Given the description of an element on the screen output the (x, y) to click on. 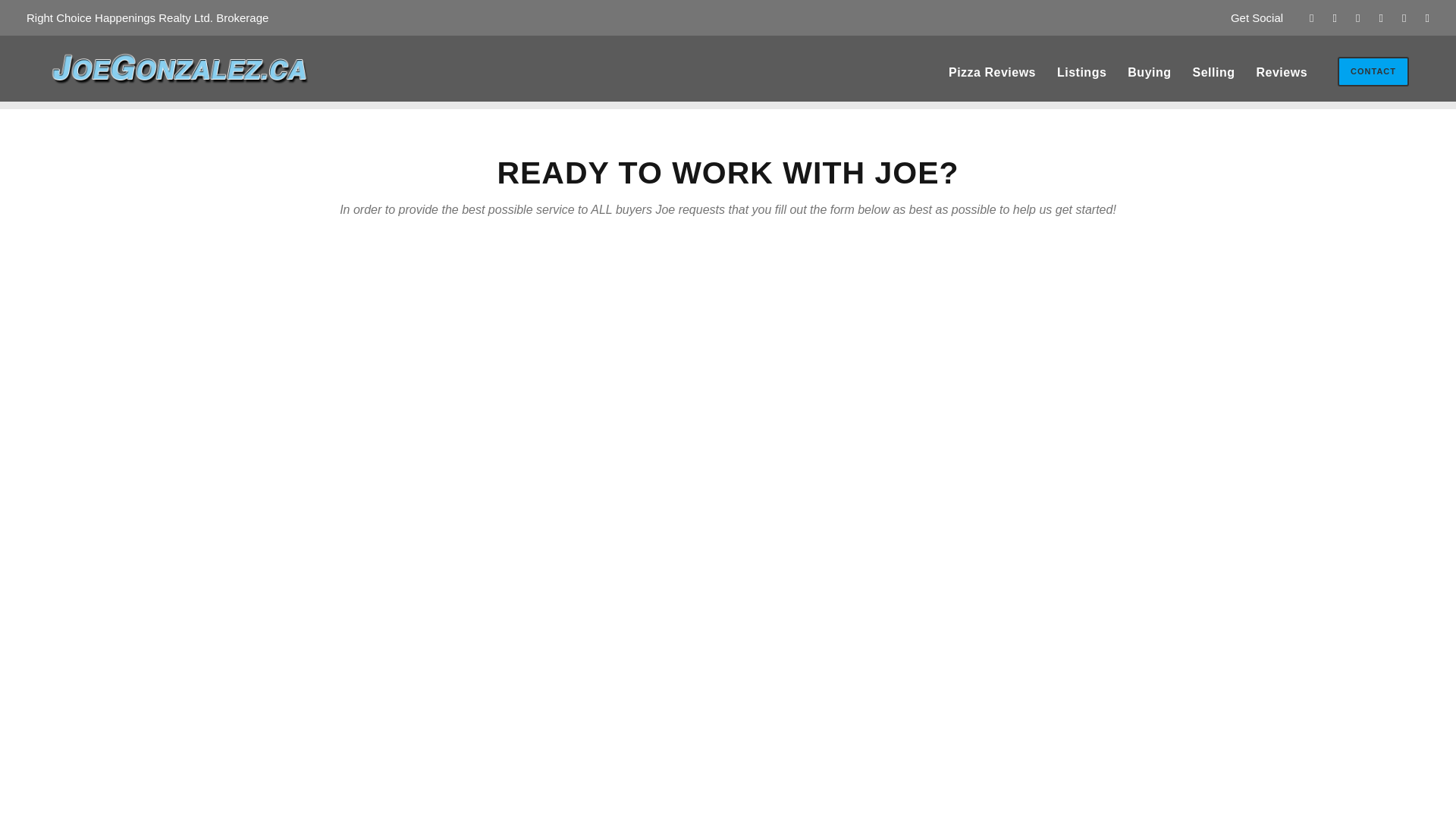
CONTACT (1373, 71)
Reviews (1281, 81)
Buying (1148, 81)
Listings (1081, 81)
Pizza Reviews (992, 81)
Selling (1213, 81)
